Given the description of an element on the screen output the (x, y) to click on. 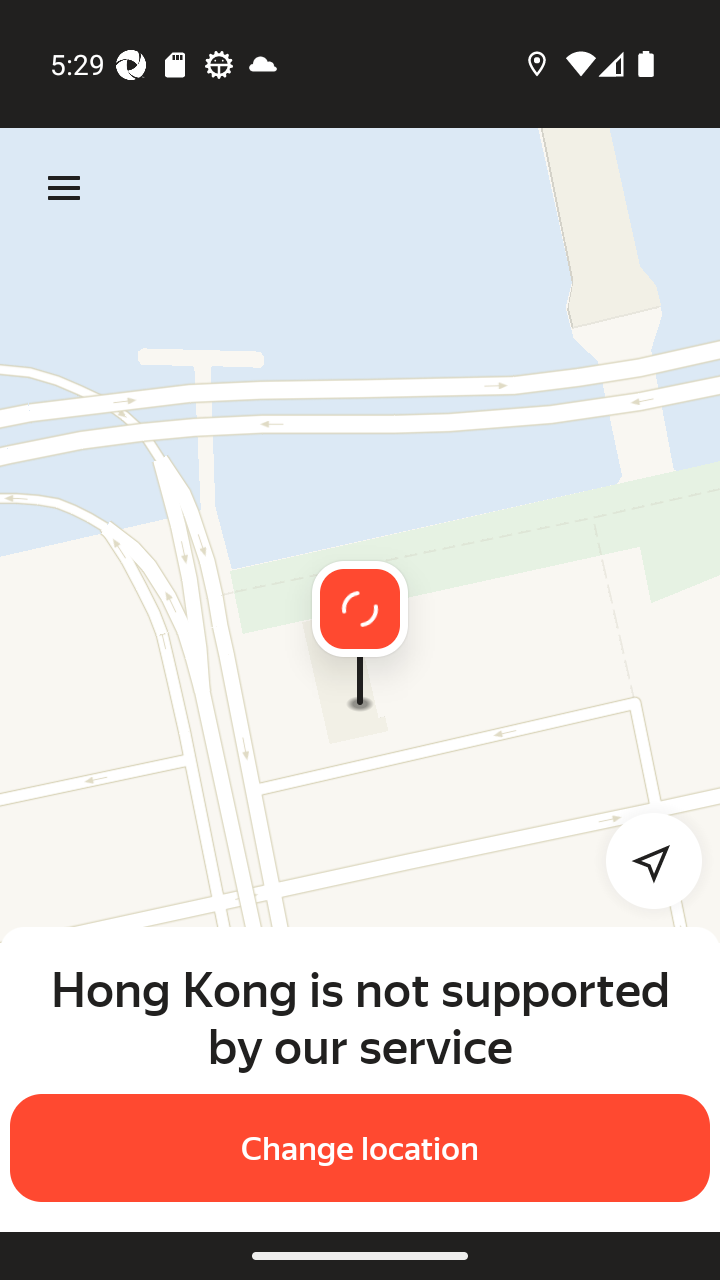
Menu Menu Menu (64, 188)
Detect my location (641, 860)
Hong Kong is not supported by our service (360, 1017)
Change location (359, 1147)
